Given the description of an element on the screen output the (x, y) to click on. 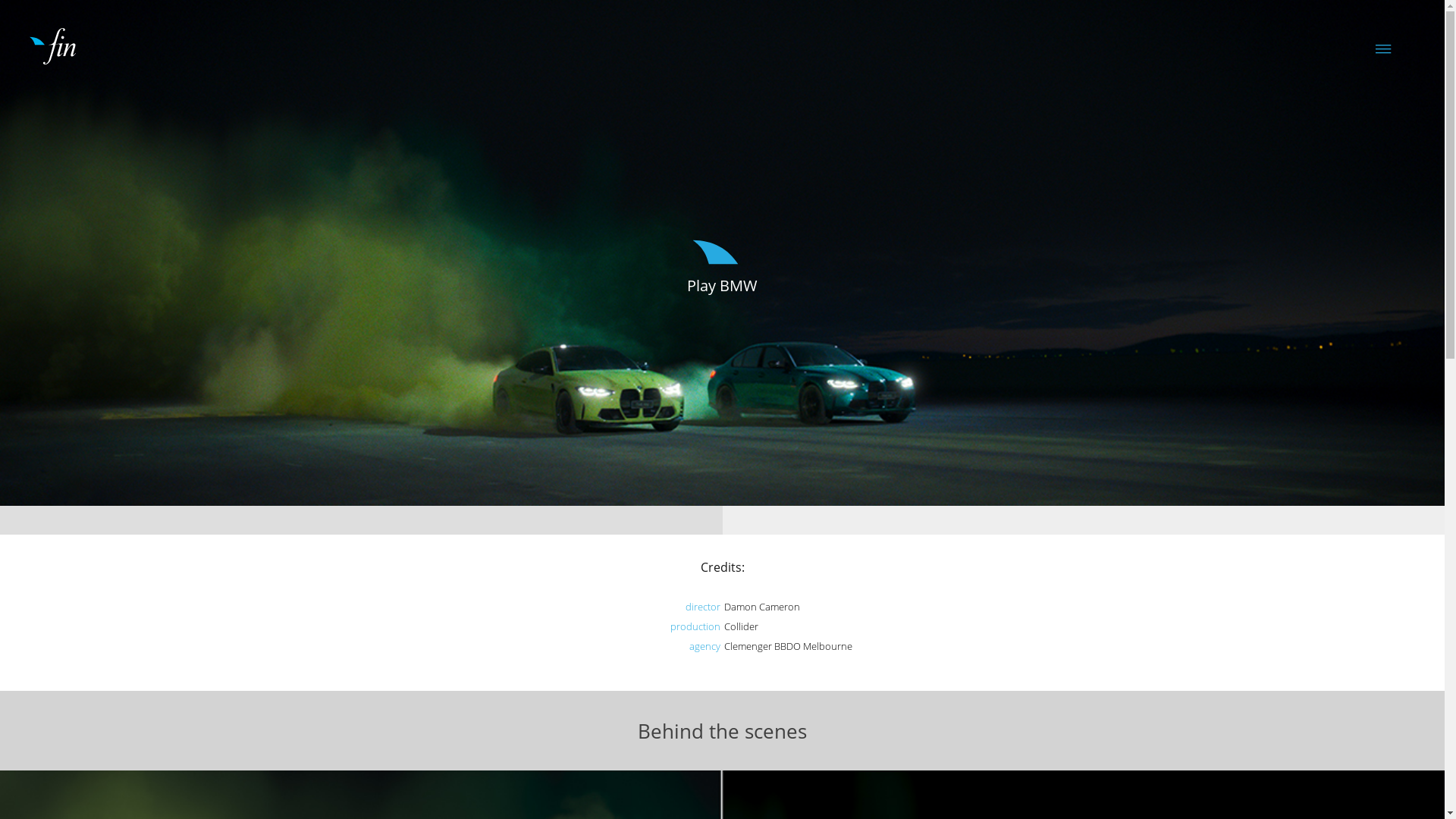
Collider Element type: text (740, 626)
Clemenger BBDO Melbourne Element type: text (787, 645)
Damon Cameron Element type: text (761, 606)
